Given the description of an element on the screen output the (x, y) to click on. 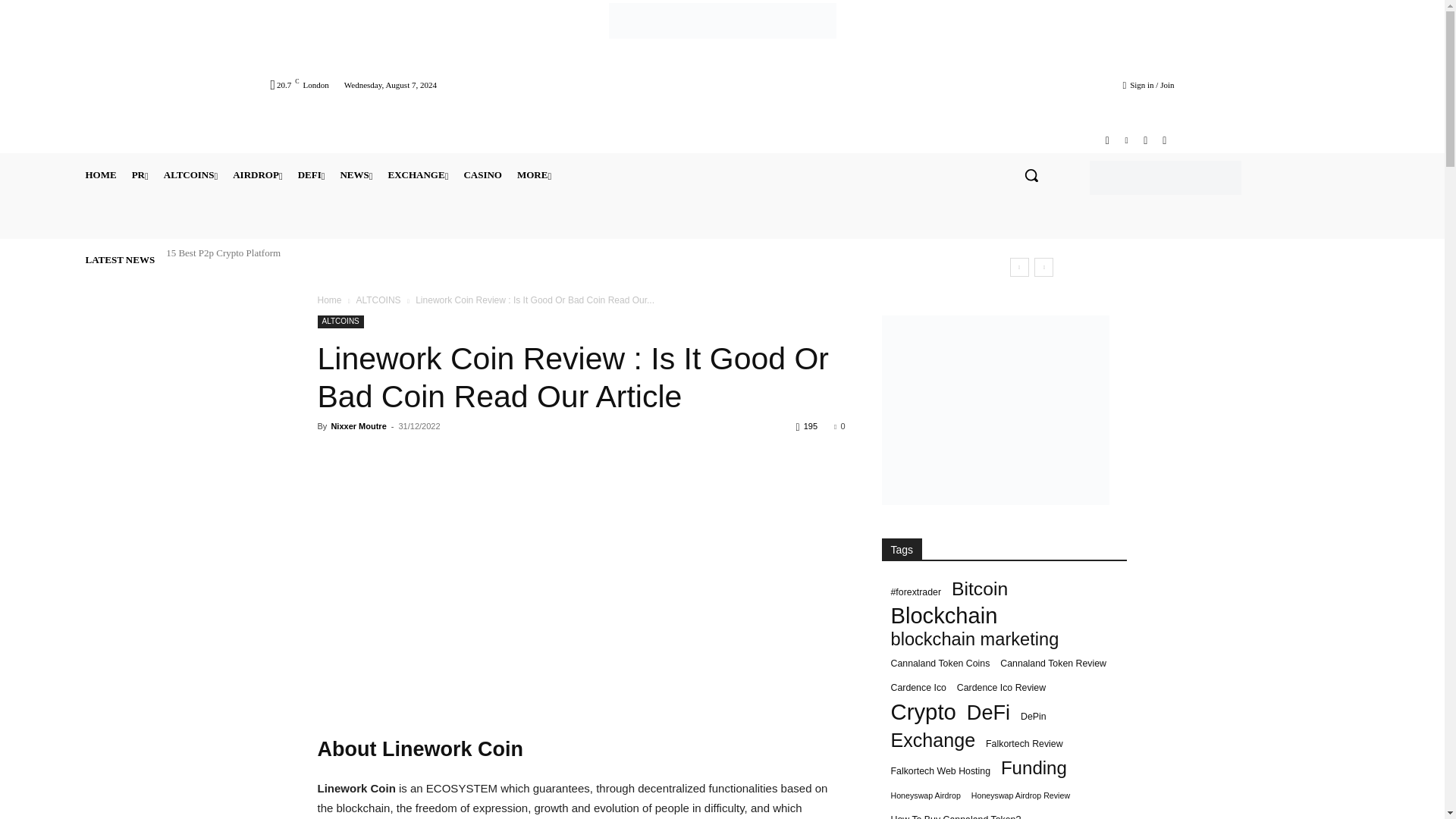
Pinterest (1125, 140)
HOME (100, 174)
Skype (1144, 140)
Facebook (1106, 140)
Twitter (1163, 140)
PR (139, 174)
